Given the description of an element on the screen output the (x, y) to click on. 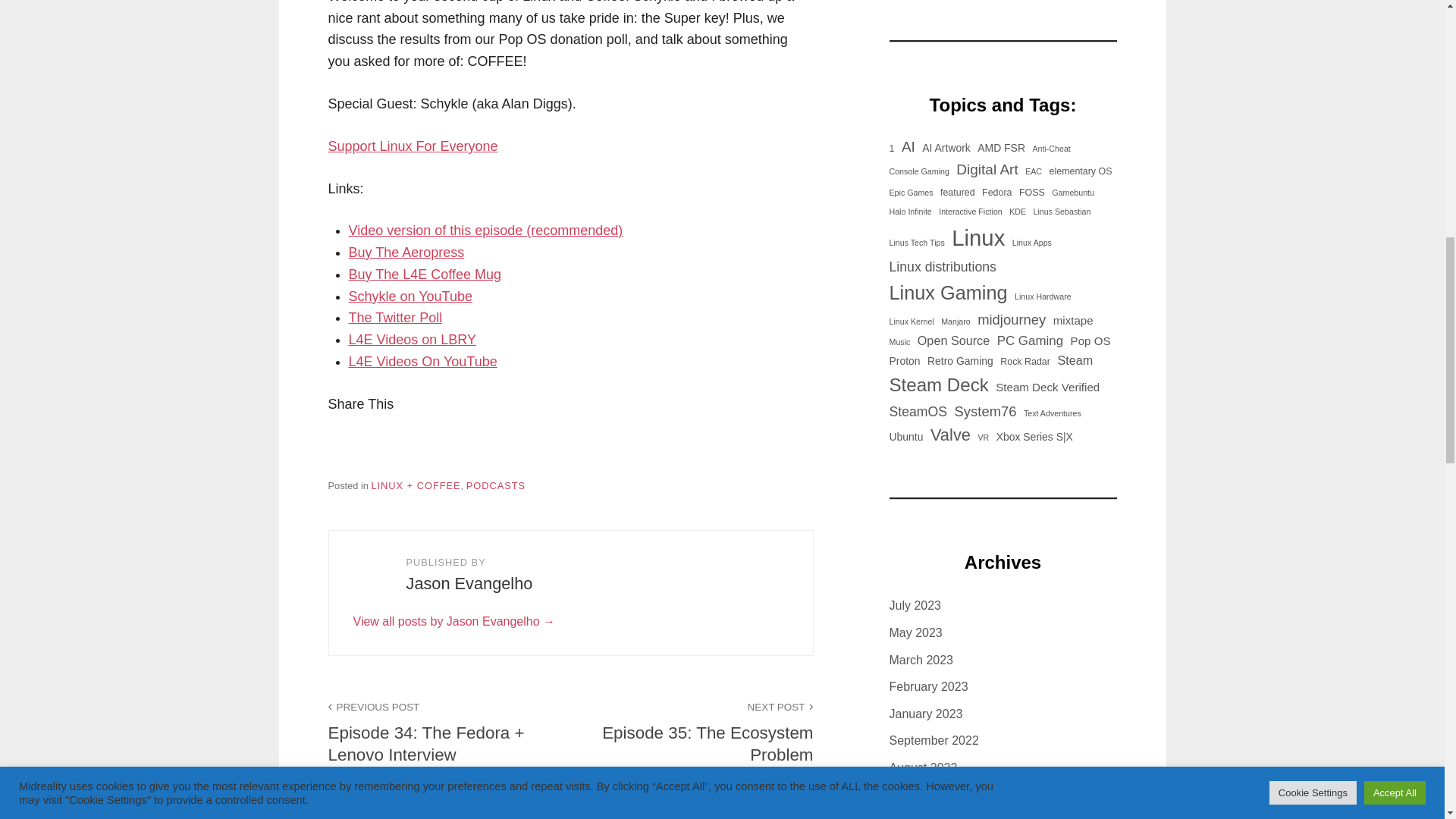
L4E Videos On YouTube (423, 361)
L4E Videos On YouTube (423, 361)
The Twitter Poll (395, 317)
Buy The Aeropress (406, 252)
Buy The L4E Coffee Mug (424, 273)
Support Linux For Everyone (412, 145)
The Twitter Poll (395, 317)
Schykle on YouTube (410, 296)
L4E Videos on LBRY (412, 339)
Buy The L4E Coffee Mug (424, 273)
Schykle on YouTube (410, 296)
Buy The Aeropress (406, 252)
L4E Videos on LBRY (412, 339)
